Given the description of an element on the screen output the (x, y) to click on. 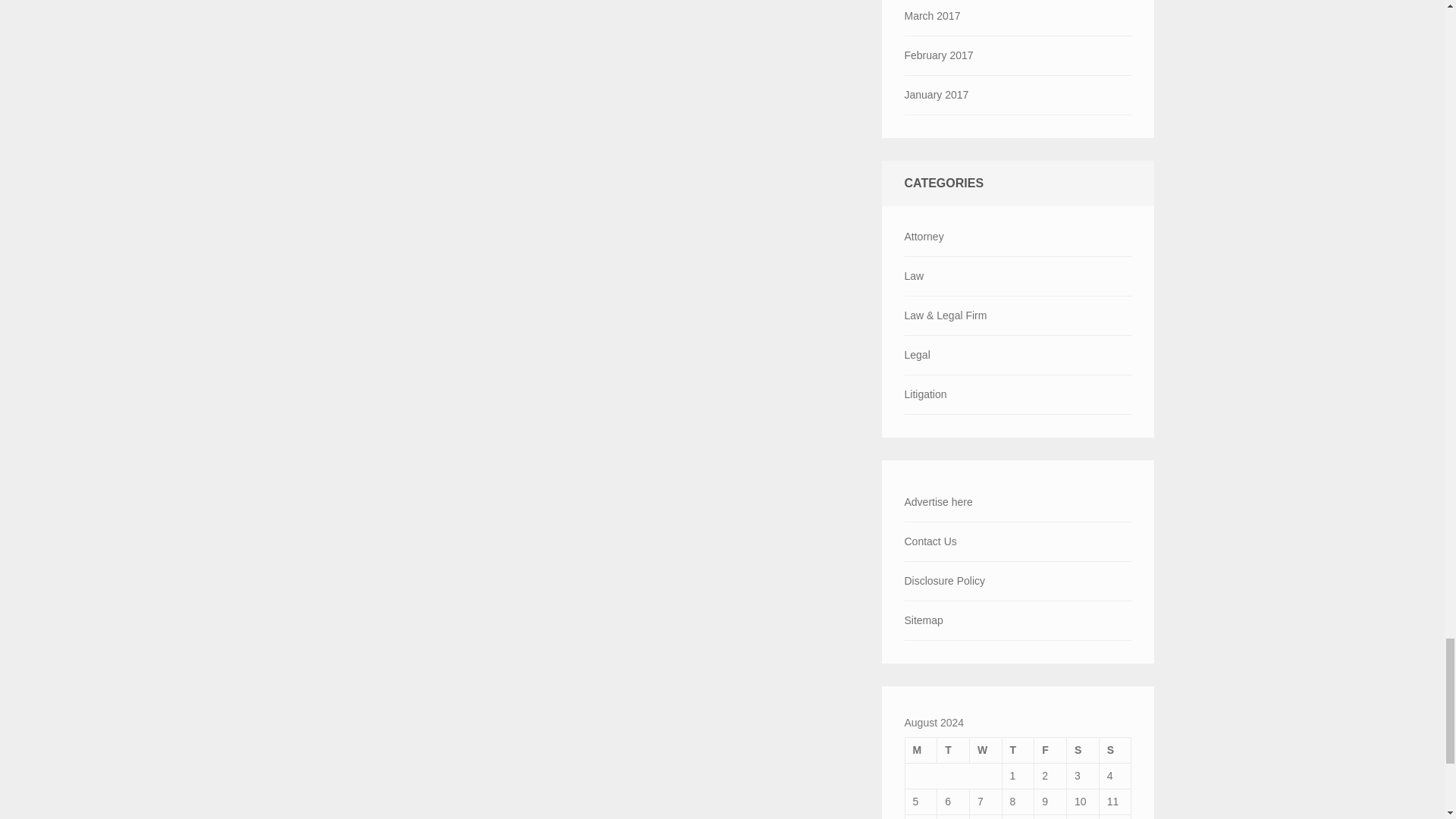
Tuesday (953, 749)
Saturday (1083, 749)
Thursday (1017, 749)
Friday (1050, 749)
Sunday (1115, 749)
Monday (920, 749)
Wednesday (985, 749)
